Given the description of an element on the screen output the (x, y) to click on. 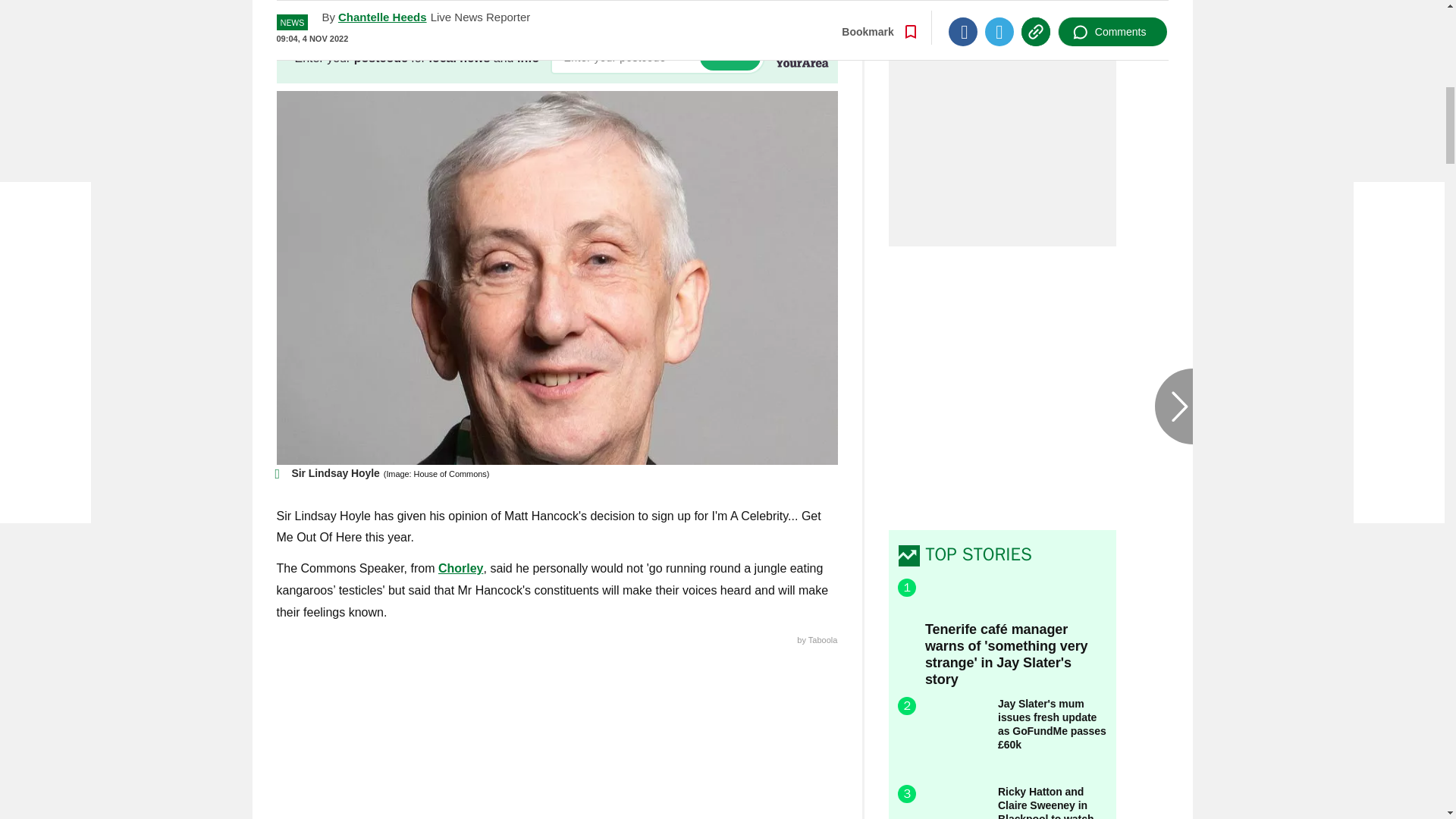
Go (730, 57)
